Given the description of an element on the screen output the (x, y) to click on. 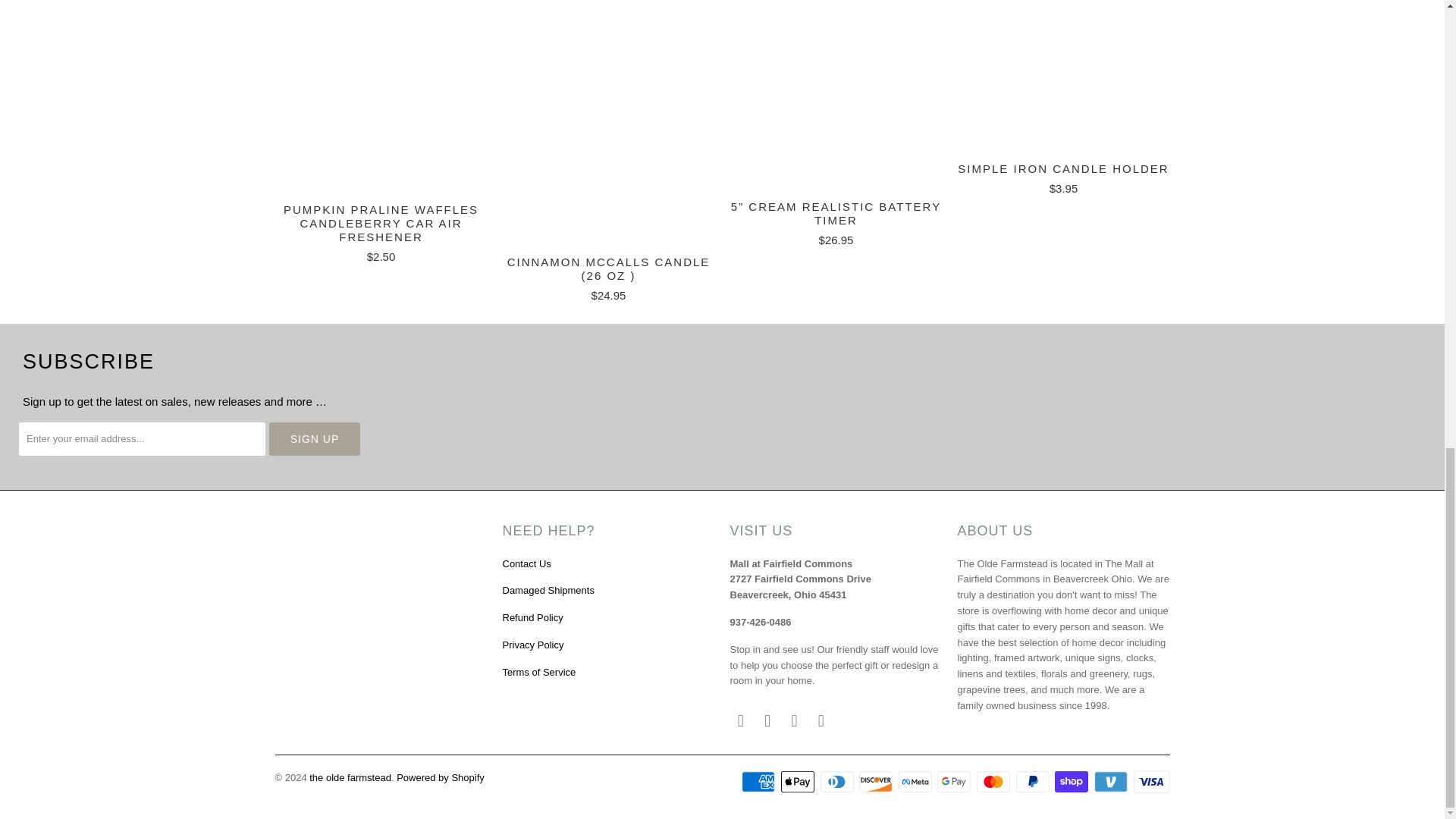
Venmo (1112, 781)
American Express (759, 781)
PayPal (1034, 781)
Google Pay (955, 781)
the olde farmstead on Facebook (740, 720)
Shop Pay (1072, 781)
the olde farmstead on YouTube (767, 720)
Meta Pay (916, 781)
Sign Up (314, 438)
Visa (1150, 781)
Apple Pay (798, 781)
the olde farmstead on Instagram (794, 720)
Discover (877, 781)
Mastercard (994, 781)
Diners Club (839, 781)
